Given the description of an element on the screen output the (x, y) to click on. 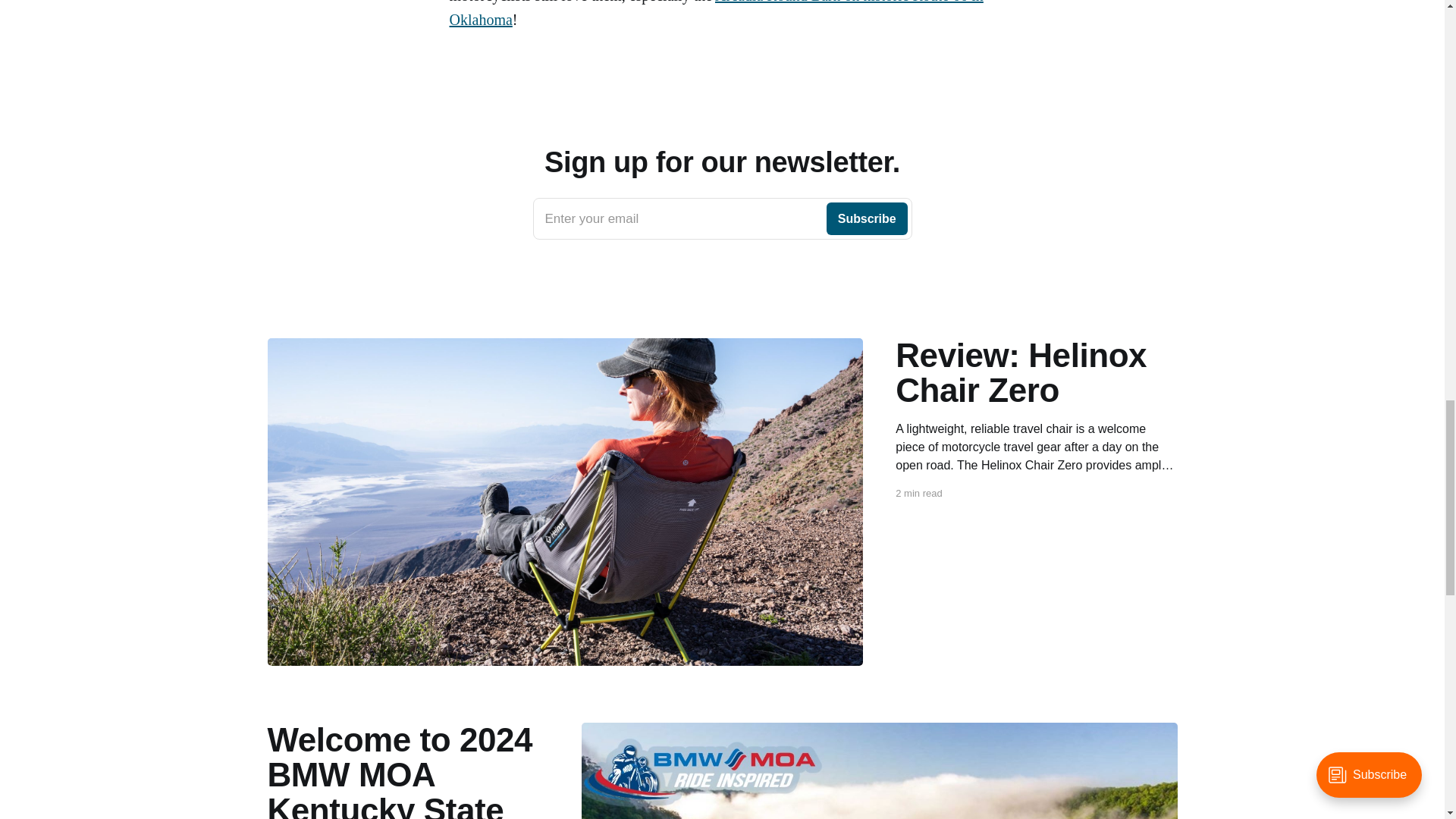
Arcadia Round Barn on historic Route 66 in Oklahoma (721, 219)
